Given the description of an element on the screen output the (x, y) to click on. 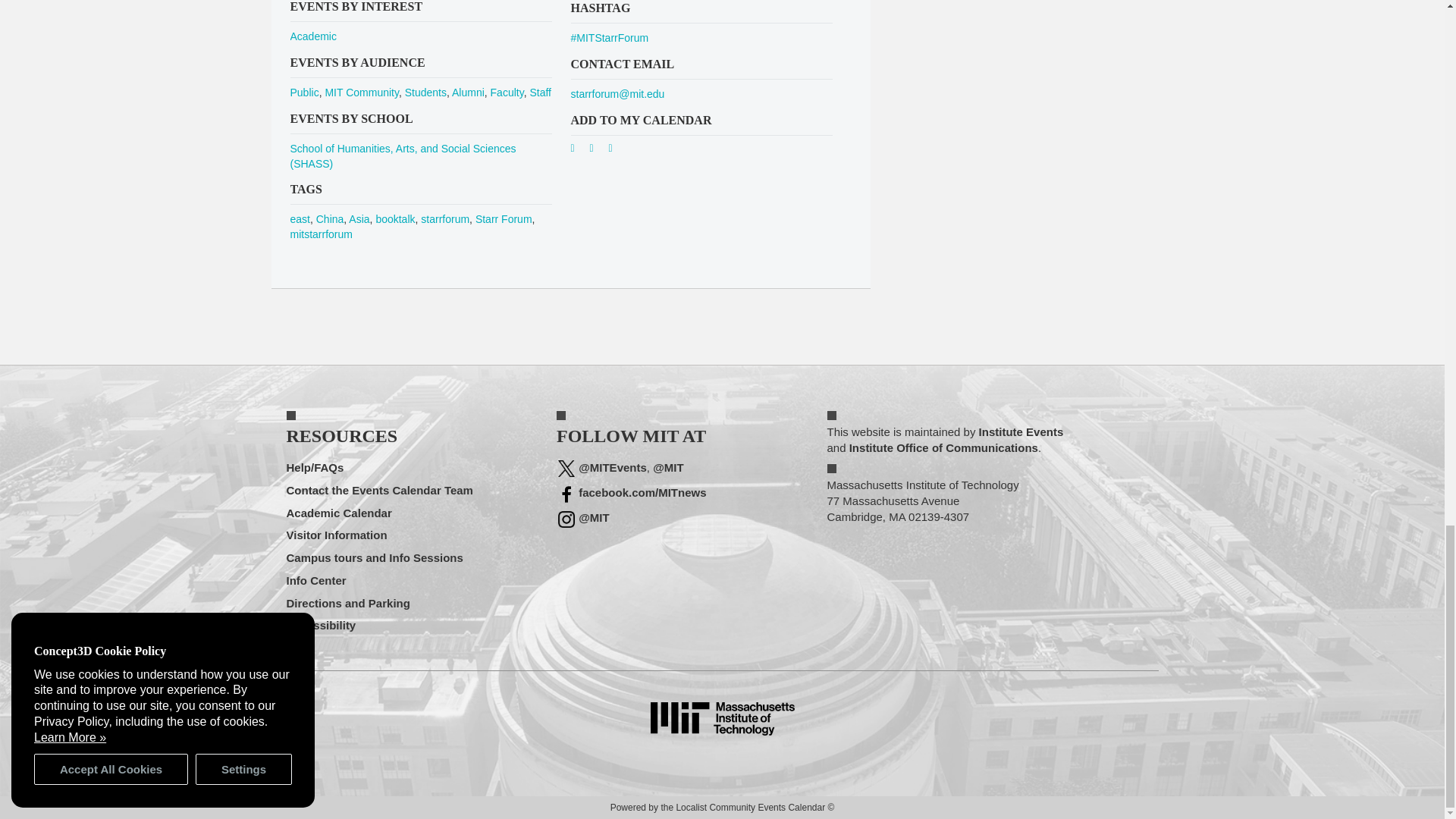
Alumni (467, 92)
Starr Forum (504, 218)
Public (303, 92)
east (298, 218)
mitstarrforum (320, 234)
Save to Outlook (615, 150)
booktalk (394, 218)
Faculty (507, 92)
Staff (540, 92)
Students (425, 92)
China (329, 218)
MIT Community (361, 92)
Save to Google Calendar (577, 150)
Asia (359, 218)
Academic (312, 36)
